Given the description of an element on the screen output the (x, y) to click on. 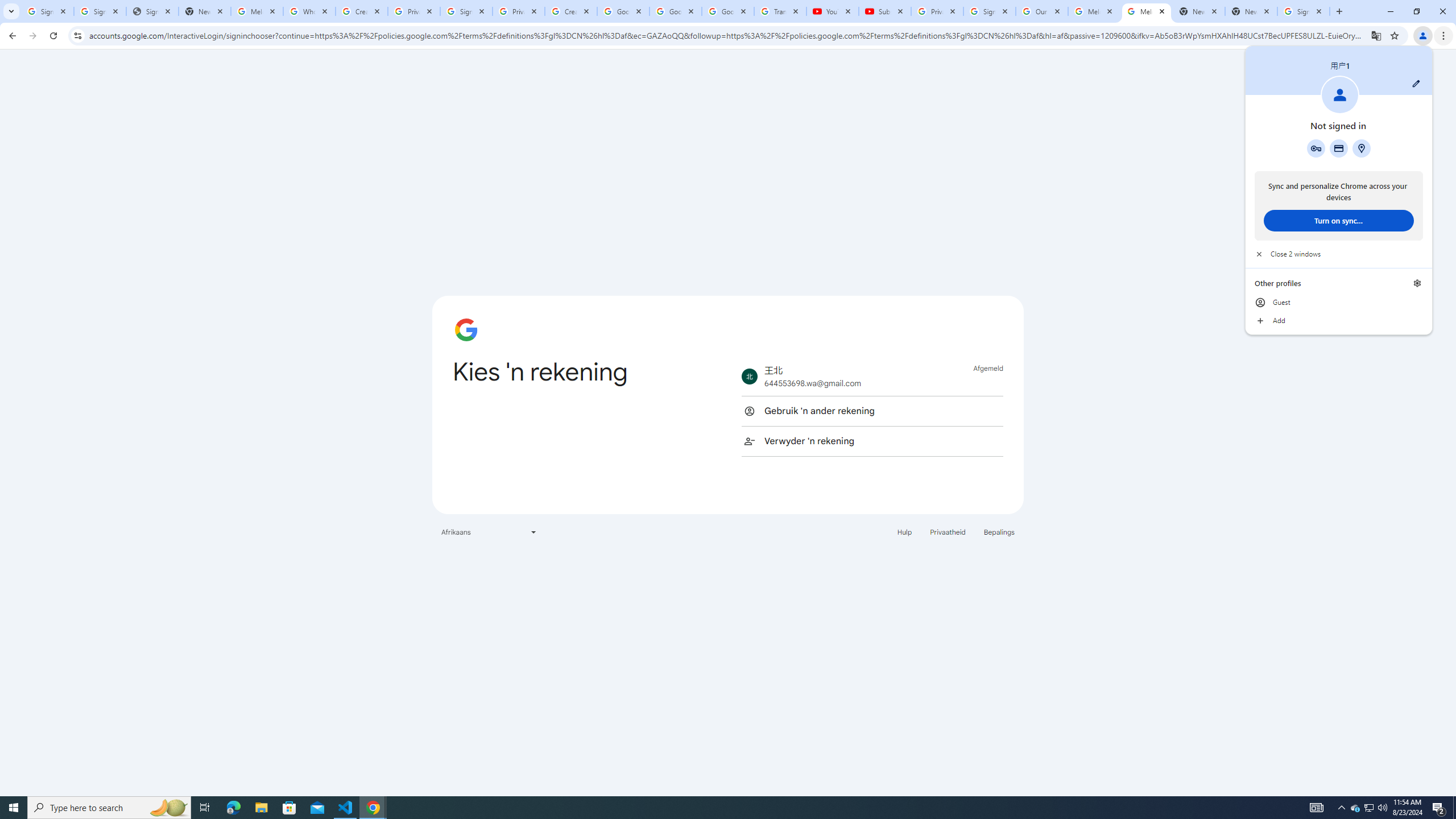
Microsoft Edge (233, 807)
Subscriptions - YouTube (1368, 807)
Action Center, 2 new notifications (884, 11)
Sign in - Google Accounts (1439, 807)
YouTube (1303, 11)
User Promoted Notification Area (831, 11)
Add (1368, 807)
